Given the description of an element on the screen output the (x, y) to click on. 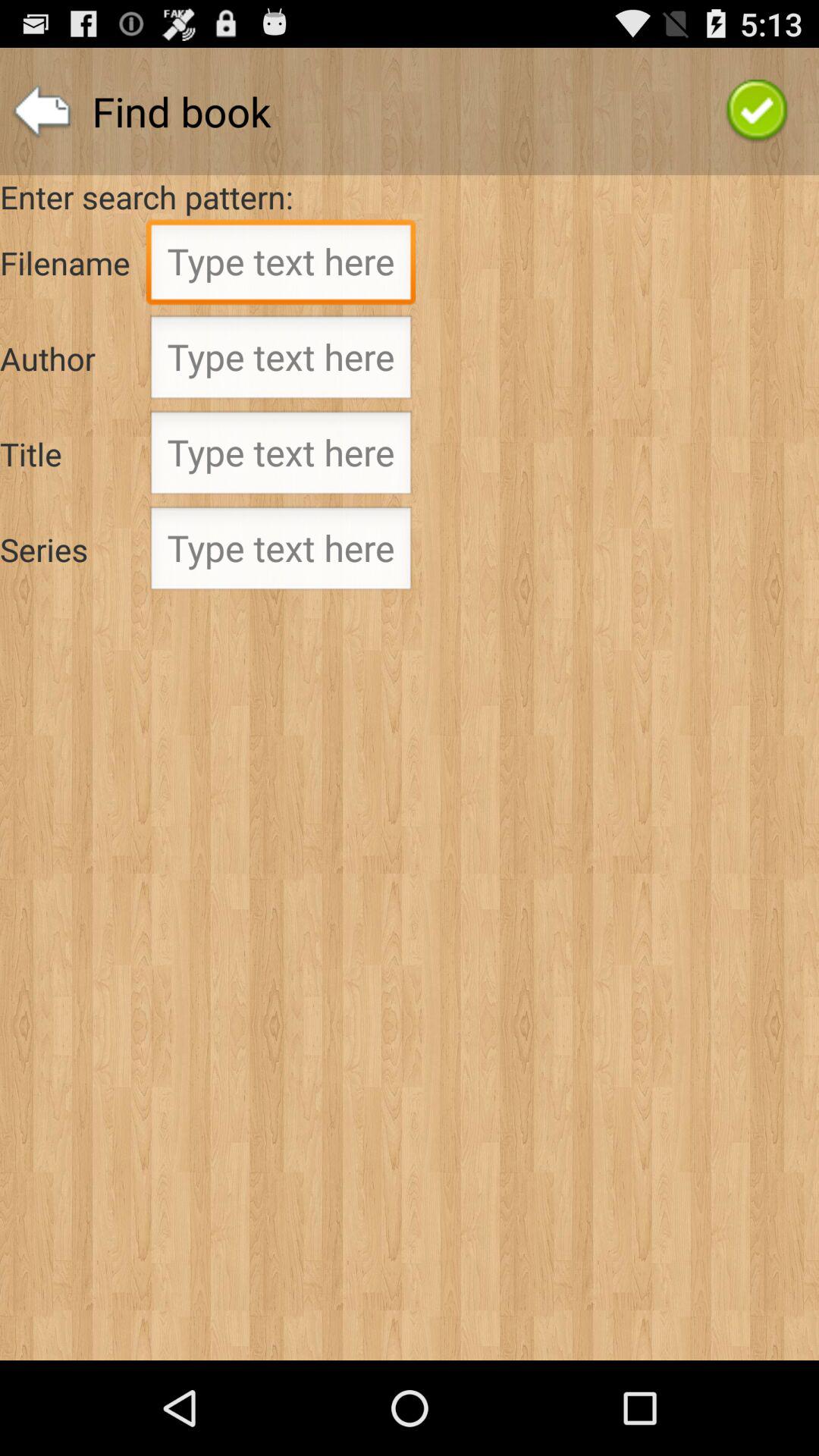
filaname textbox (280, 265)
